Given the description of an element on the screen output the (x, y) to click on. 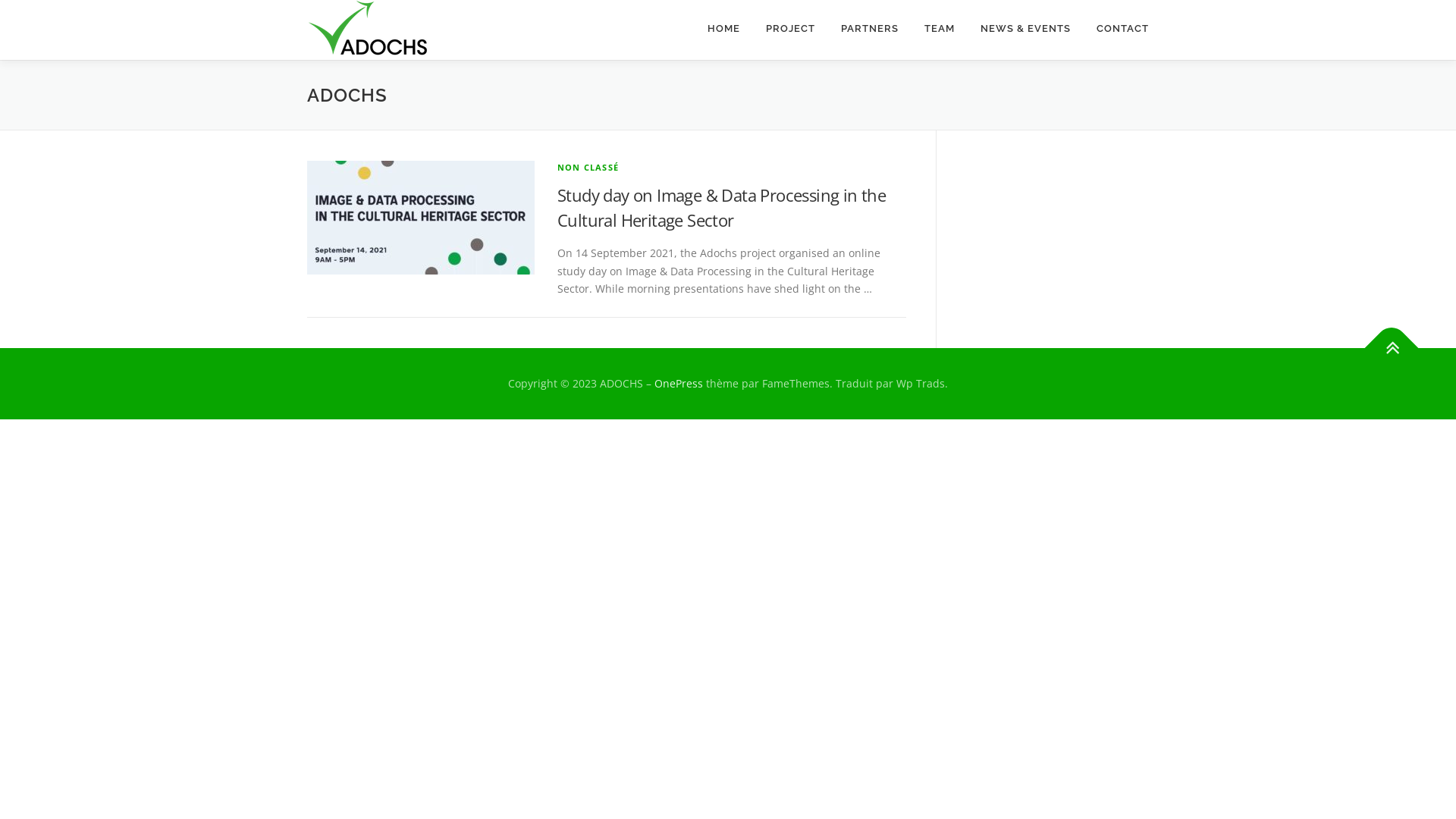
TEAM Element type: text (939, 28)
NEWS & EVENTS Element type: text (1025, 28)
Aller au contenu Element type: text (42, 9)
PROJECT Element type: text (790, 28)
Retour en haut Element type: hover (1383, 340)
OnePress Element type: text (678, 383)
HOME Element type: text (723, 28)
PARTNERS Element type: text (869, 28)
CONTACT Element type: text (1115, 28)
